Given the description of an element on the screen output the (x, y) to click on. 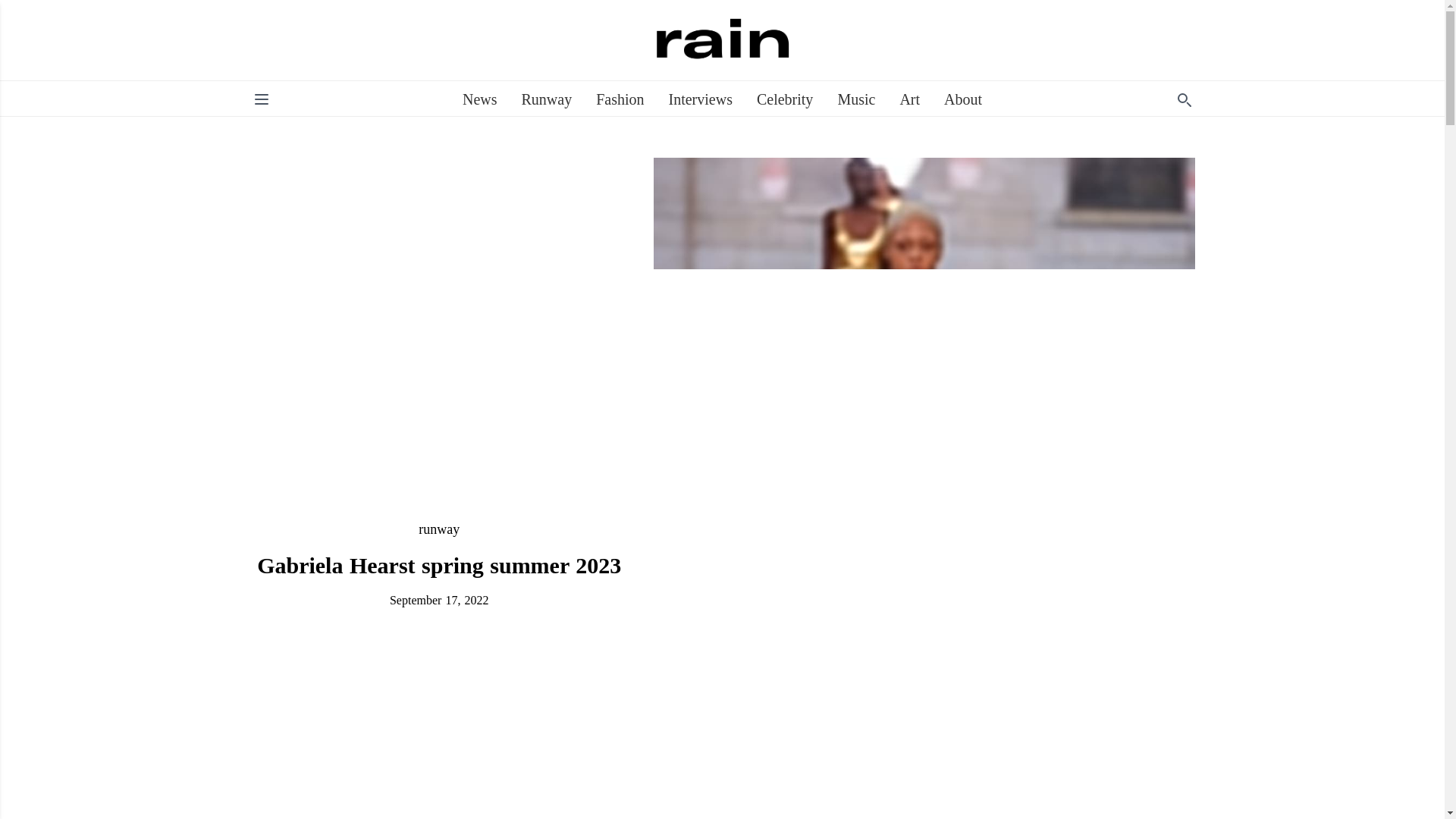
Interviews (700, 99)
News (480, 99)
Runway (546, 99)
About (962, 99)
Celebrity (784, 99)
Music (856, 99)
Fashion (619, 99)
runway (439, 528)
